Given the description of an element on the screen output the (x, y) to click on. 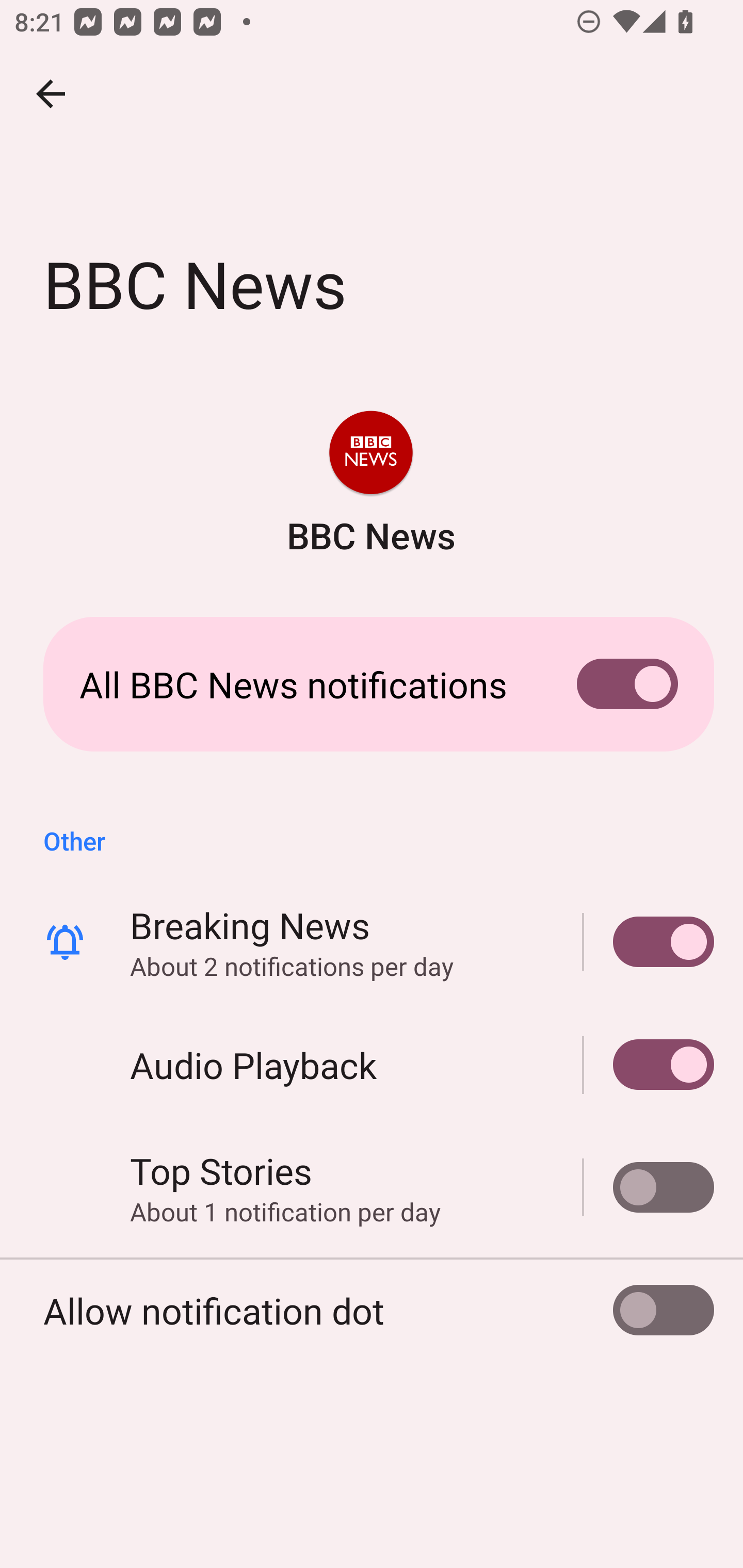
Navigate up (50, 93)
BBC News (370, 484)
All BBC News notifications (371, 684)
Breaking News (648, 941)
Audio Playback (371, 1064)
Audio Playback (648, 1064)
Top Stories (648, 1187)
Allow notification dot (371, 1309)
